Given the description of an element on the screen output the (x, y) to click on. 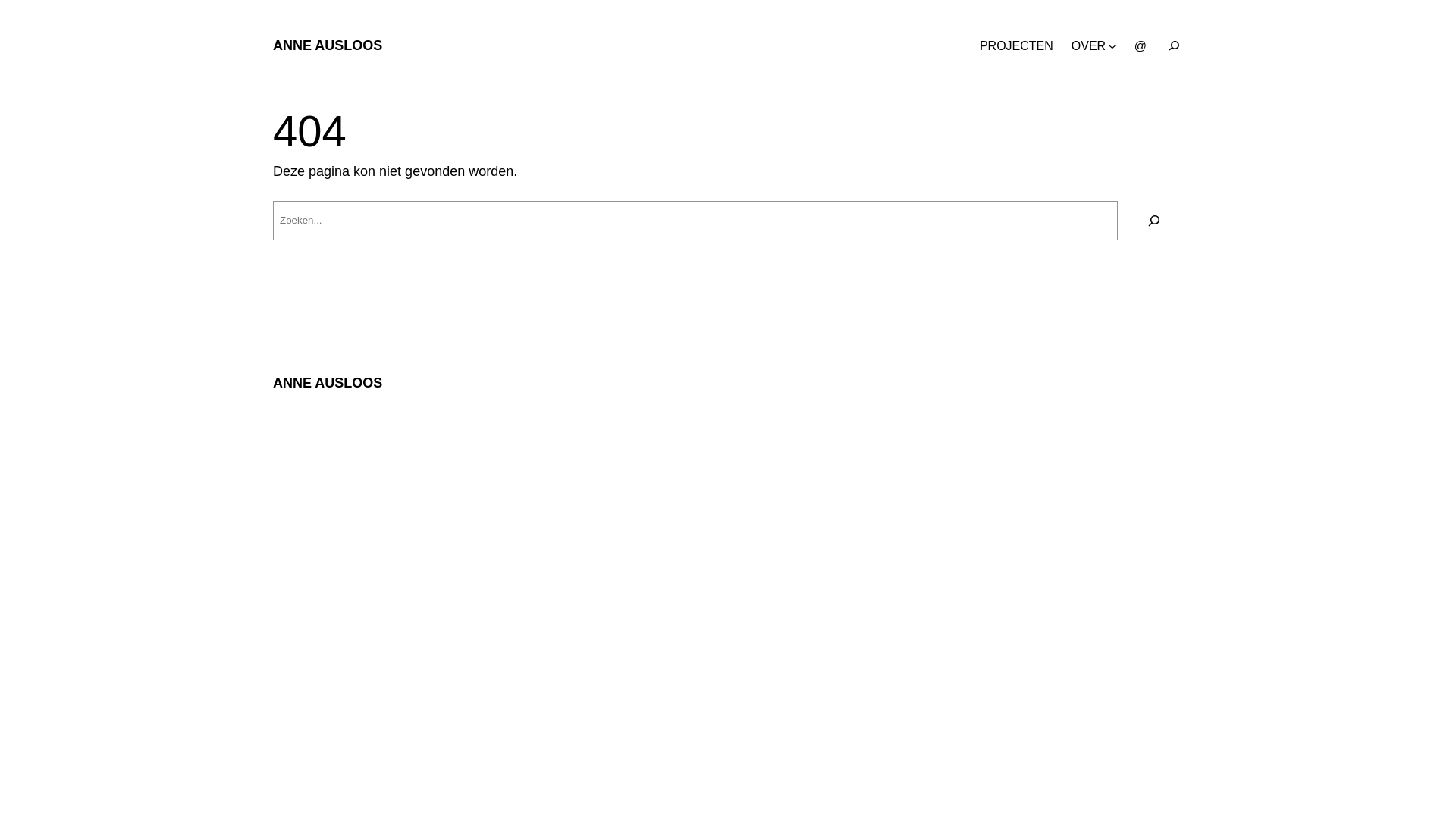
ANNE AUSLOOS Element type: text (327, 45)
ANNE AUSLOOS Element type: text (327, 382)
@ Element type: text (1140, 46)
OVER Element type: text (1088, 46)
PROJECTEN Element type: text (1016, 46)
